Given the description of an element on the screen output the (x, y) to click on. 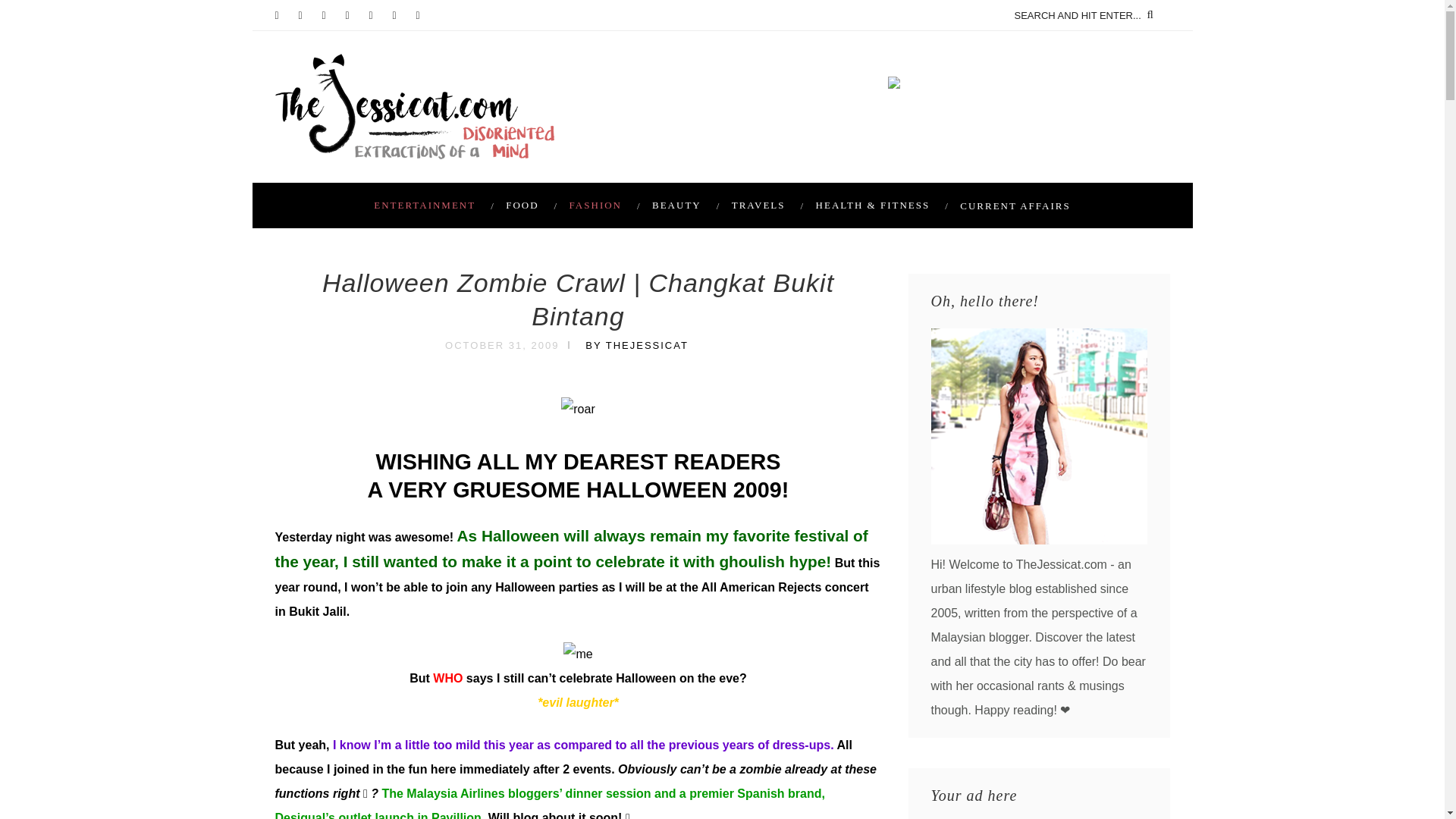
me by jtsljess, on Flickr (577, 653)
roar by jtsljess, on Flickr (577, 408)
